Given the description of an element on the screen output the (x, y) to click on. 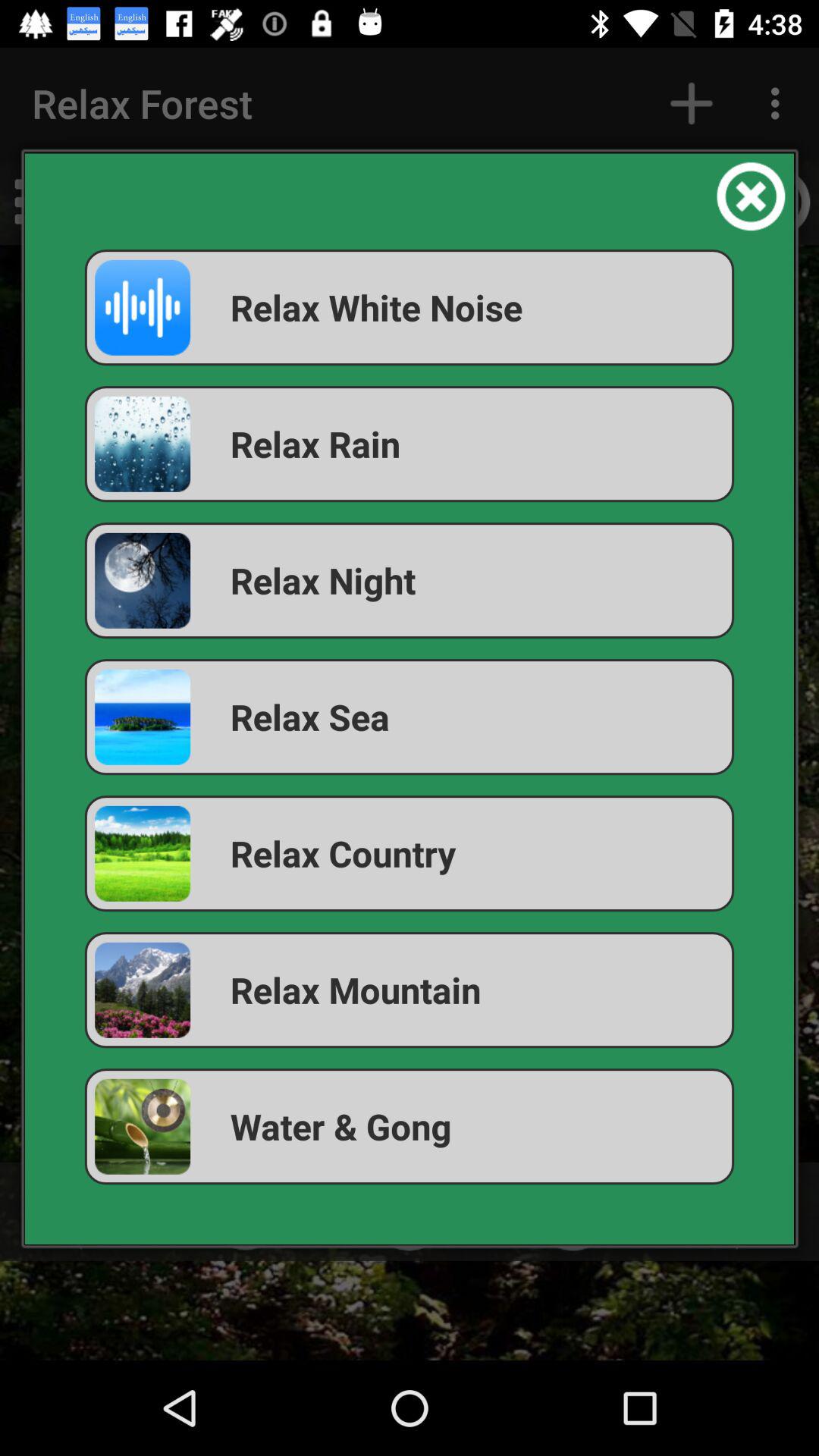
choose the app below the relax white noise (409, 444)
